Given the description of an element on the screen output the (x, y) to click on. 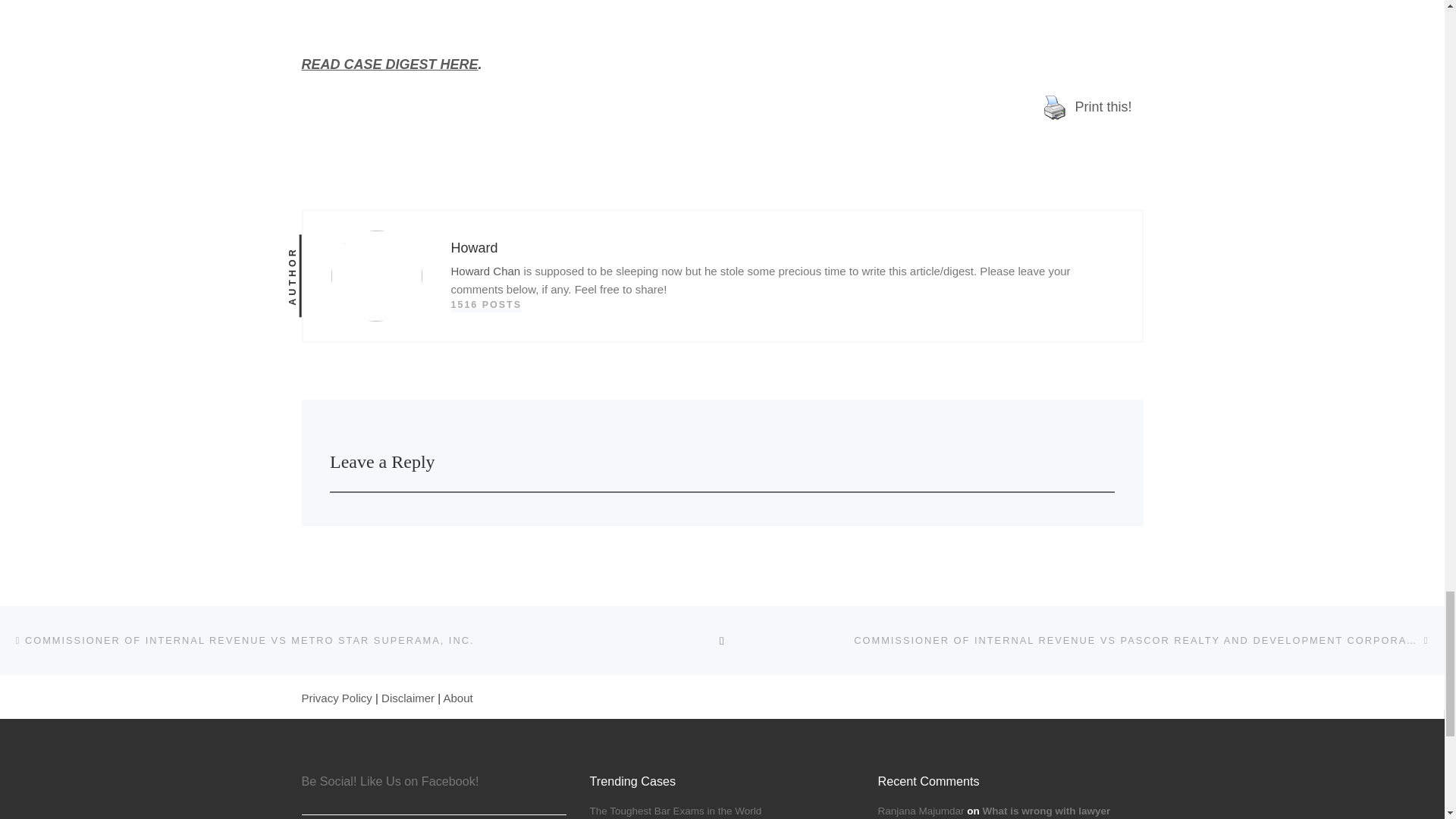
View all the posts of the author (485, 305)
Print this! (1086, 107)
READ CASE DIGEST HERE (390, 64)
Ortaliz vs Echarri Case Digest (390, 64)
Howard Chan (484, 270)
Print Content (1054, 107)
